Given the description of an element on the screen output the (x, y) to click on. 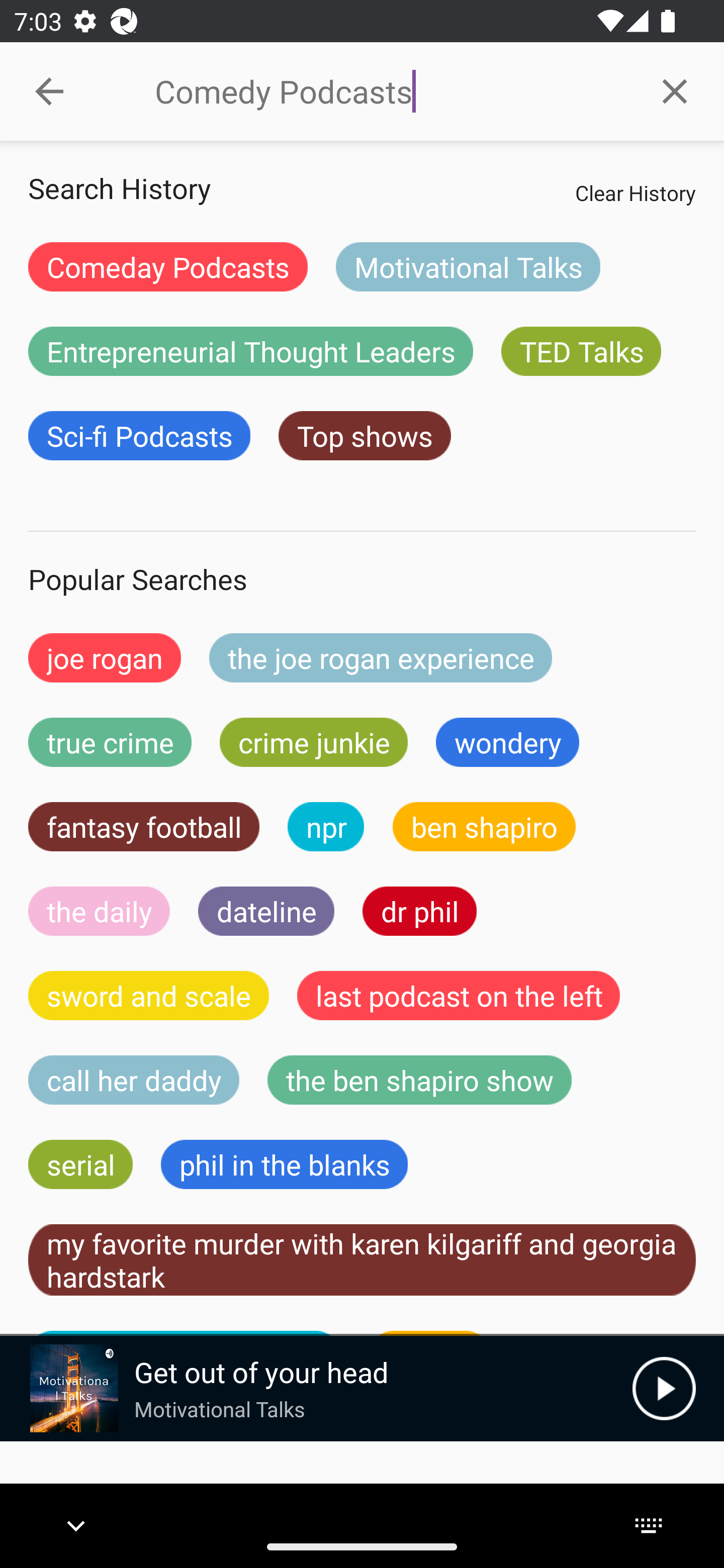
Collapse (49, 91)
Clear query (674, 90)
Comedy Podcasts (389, 91)
Clear History (634, 192)
Comeday Podcasts (167, 266)
Motivational Talks (467, 266)
Entrepreneurial Thought Leaders (250, 351)
TED Talks (581, 351)
Sci-fi Podcasts (139, 435)
Top shows (364, 435)
joe rogan (104, 657)
the joe rogan experience (380, 657)
true crime (109, 742)
crime junkie (313, 742)
wondery (507, 742)
fantasy football (143, 826)
npr (325, 826)
ben shapiro (483, 826)
the daily (99, 910)
dateline (266, 910)
dr phil (419, 910)
sword and scale (148, 995)
last podcast on the left (458, 995)
call her daddy (133, 1079)
the ben shapiro show (419, 1079)
serial (80, 1163)
phil in the blanks (283, 1163)
Picture Get out of your head Motivational Talks (316, 1388)
Play (663, 1388)
